Given the description of an element on the screen output the (x, y) to click on. 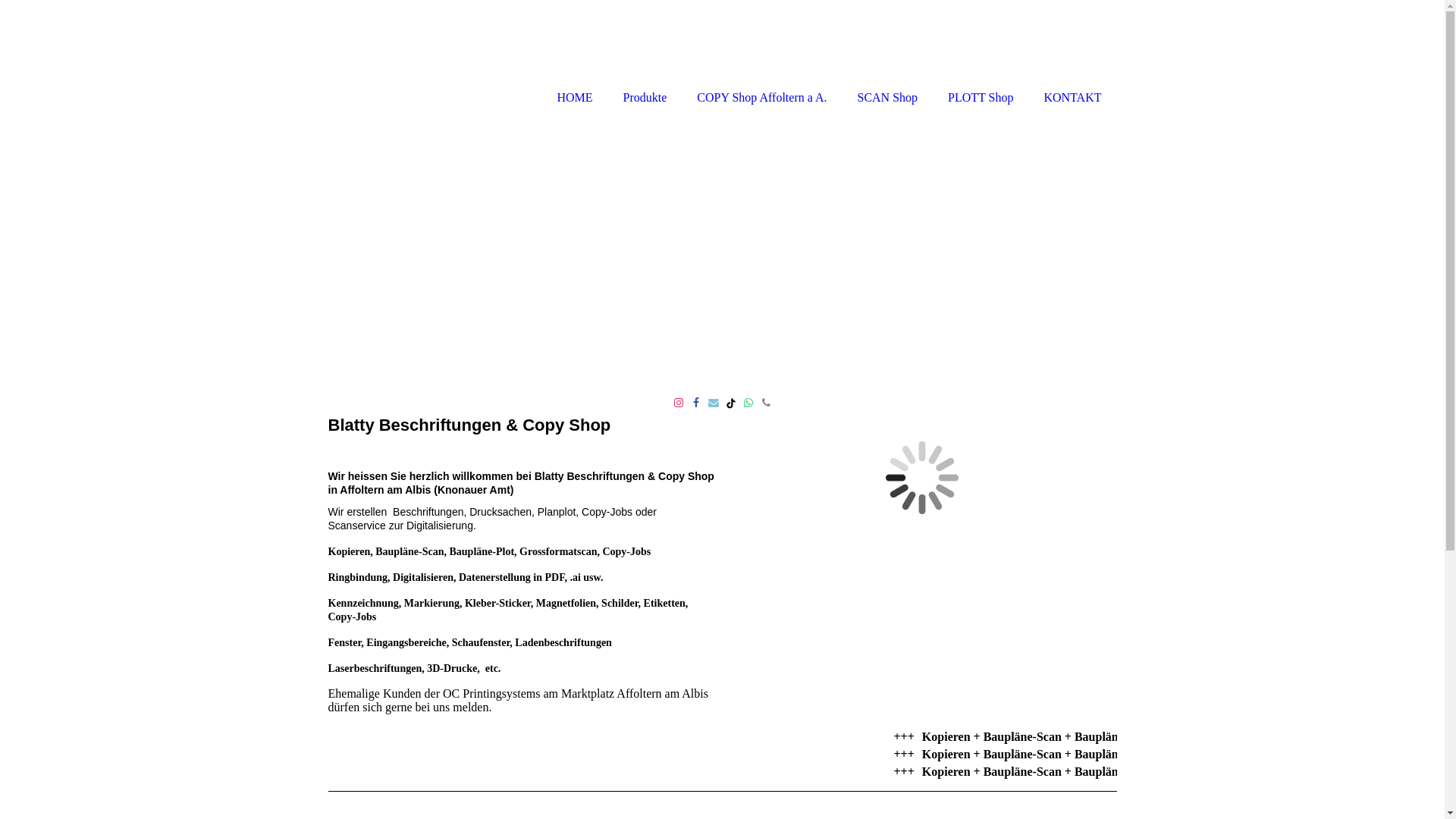
SCAN Shop Element type: text (886, 54)
E-Mail Element type: hover (712, 402)
Facebook Element type: hover (695, 402)
Instagram Element type: hover (678, 402)
COPY Shop Affoltern a A. Element type: text (761, 54)
Produkte Element type: text (645, 54)
PLOTT Shop Element type: text (980, 54)
HOME Element type: text (574, 54)
WhatsApp Element type: hover (748, 402)
KONTAKT Element type: text (1072, 54)
Telefon Element type: hover (766, 402)
TikTok Element type: hover (730, 402)
